Given the description of an element on the screen output the (x, y) to click on. 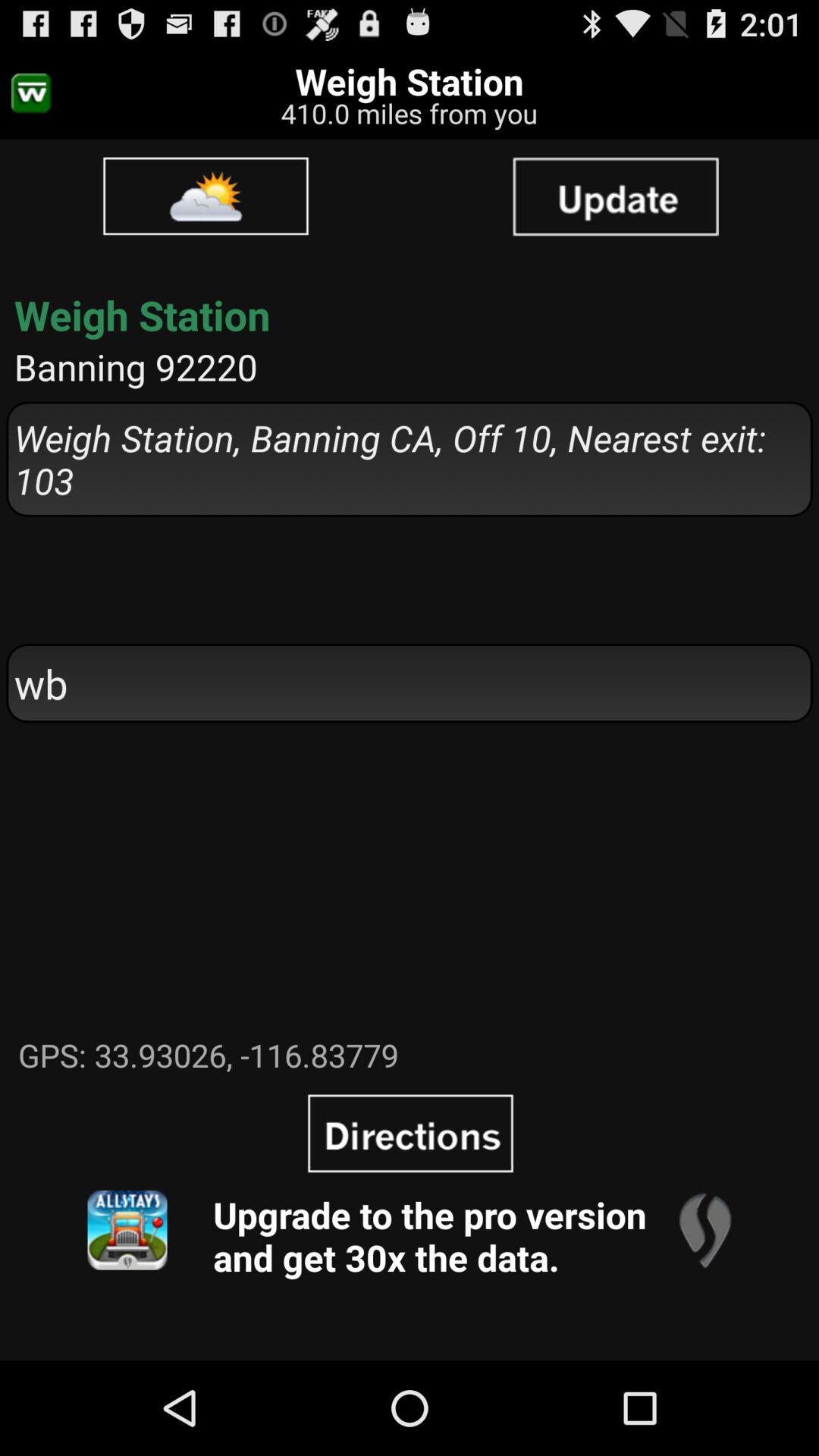
launch the item to the left of upgrade to the icon (127, 1230)
